Given the description of an element on the screen output the (x, y) to click on. 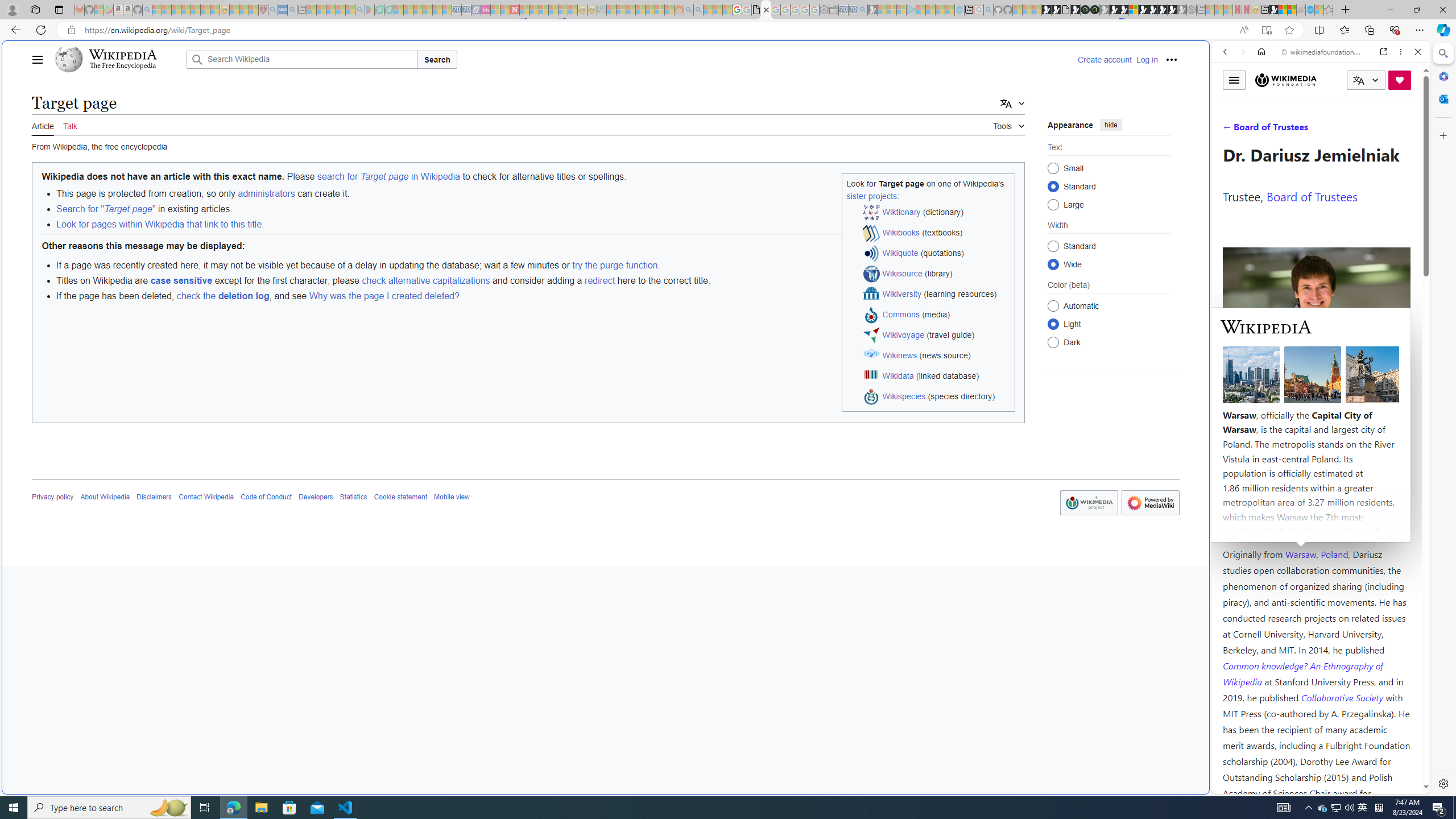
About Wikipedia (104, 496)
list of asthma inhalers uk - Search - Sleeping (272, 9)
Class: i icon icon-translate language-switcher__icon (1358, 80)
Wikisource (library) (936, 274)
Trusted Community Engagement and Contributions | Guidelines (524, 9)
Microsoft Start - Sleeping (939, 9)
